Given the description of an element on the screen output the (x, y) to click on. 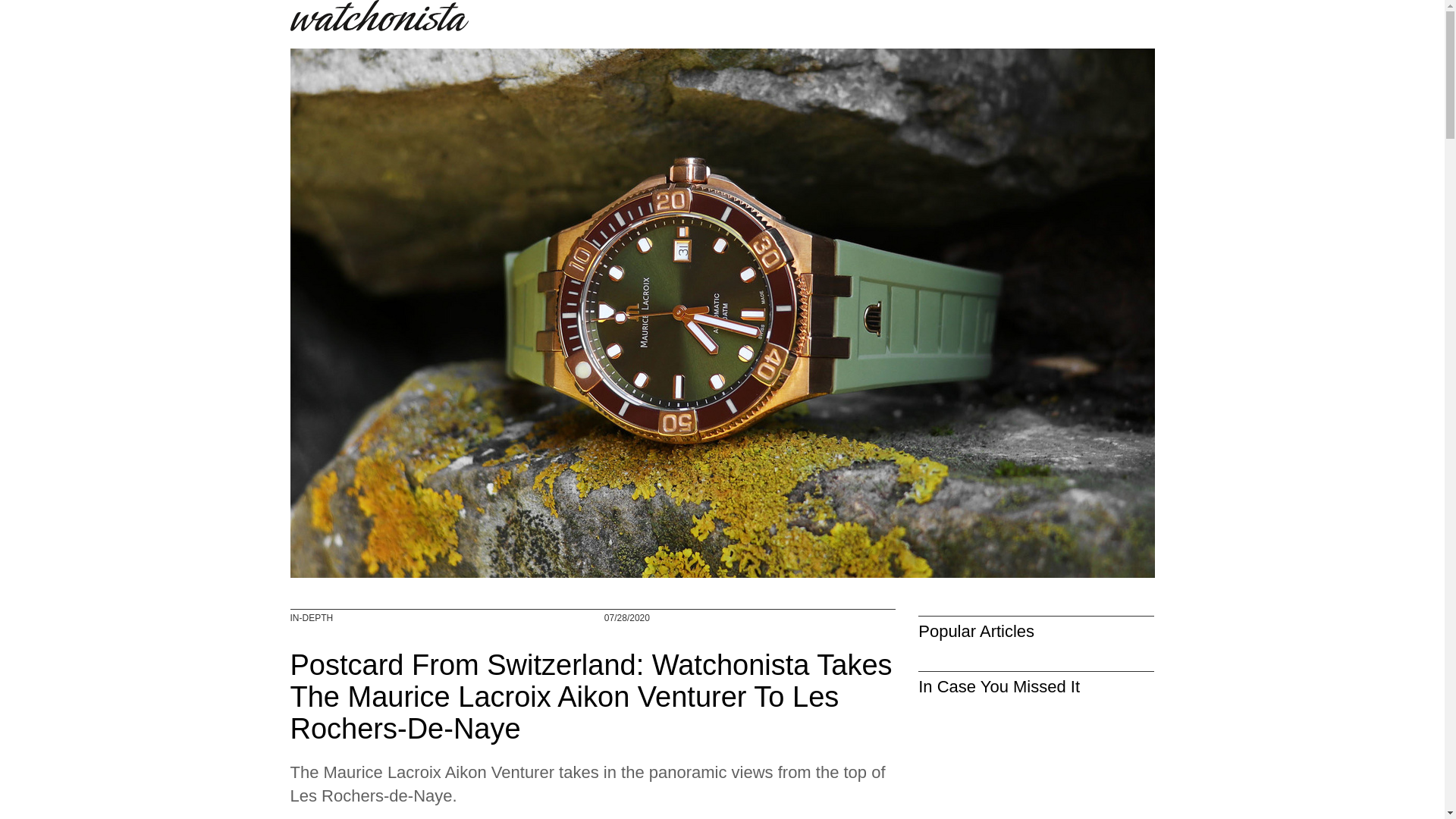
Home (384, 15)
IN-DEPTH (311, 617)
